Given the description of an element on the screen output the (x, y) to click on. 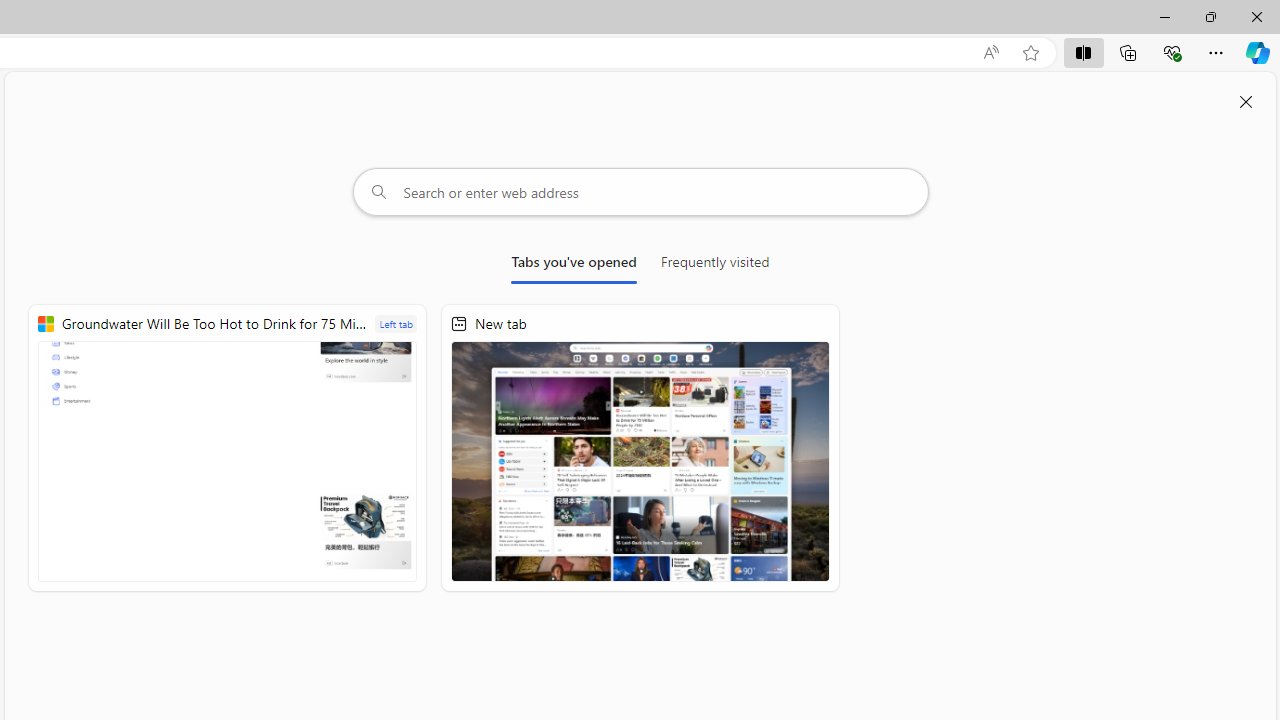
Tabs you've opened (573, 265)
Search or enter web address (640, 191)
Frequently visited (715, 265)
Close split screen (1245, 102)
